Given the description of an element on the screen output the (x, y) to click on. 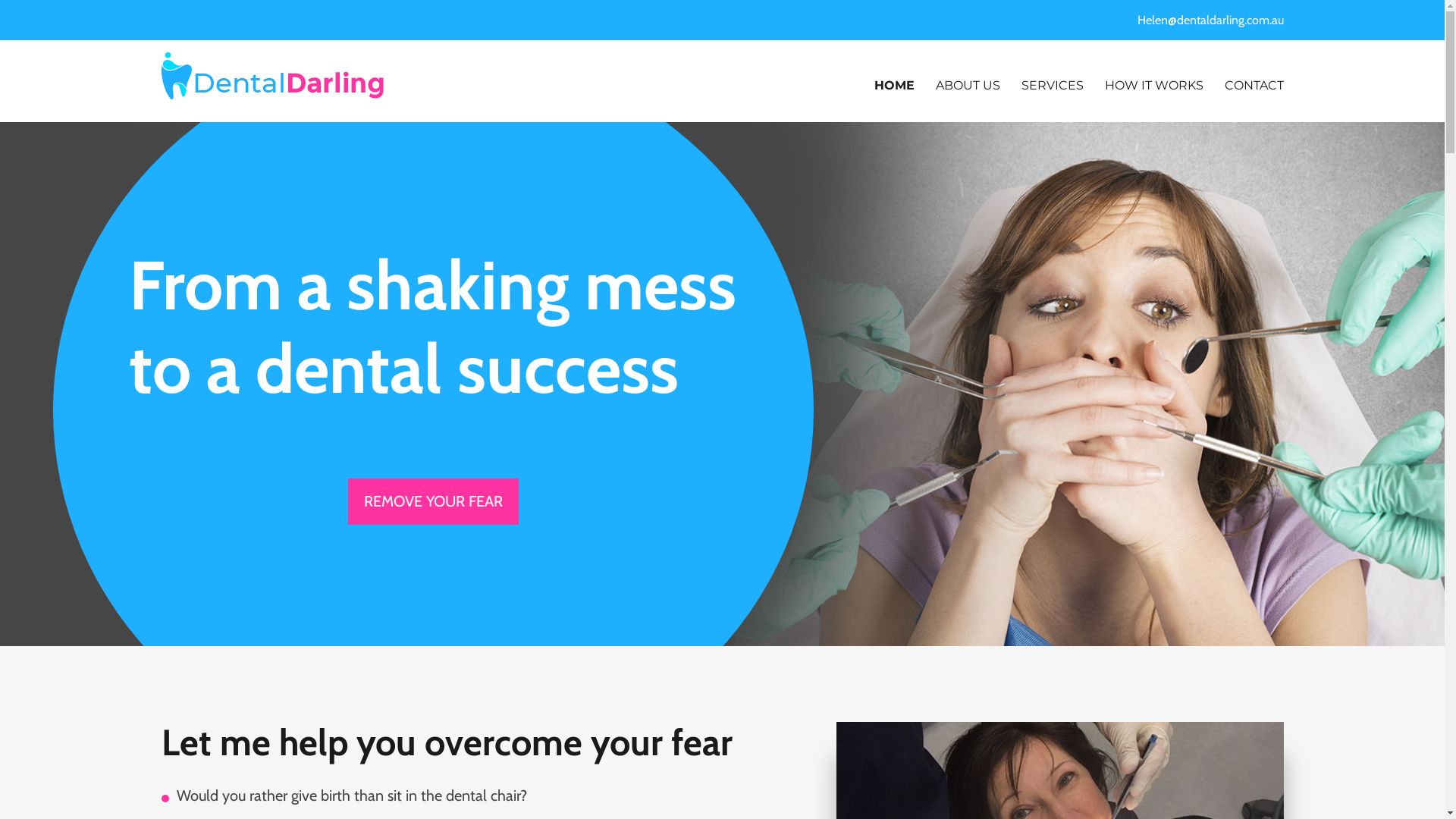
SERVICES Element type: text (1051, 84)
REMOVE YOUR FEAR Element type: text (433, 501)
CONTACT Element type: text (1253, 84)
HOW IT WORKS Element type: text (1153, 84)
ABOUT US Element type: text (967, 84)
HOME Element type: text (893, 84)
Helen@dentaldarling.com.au Element type: text (1206, 19)
